Given the description of an element on the screen output the (x, y) to click on. 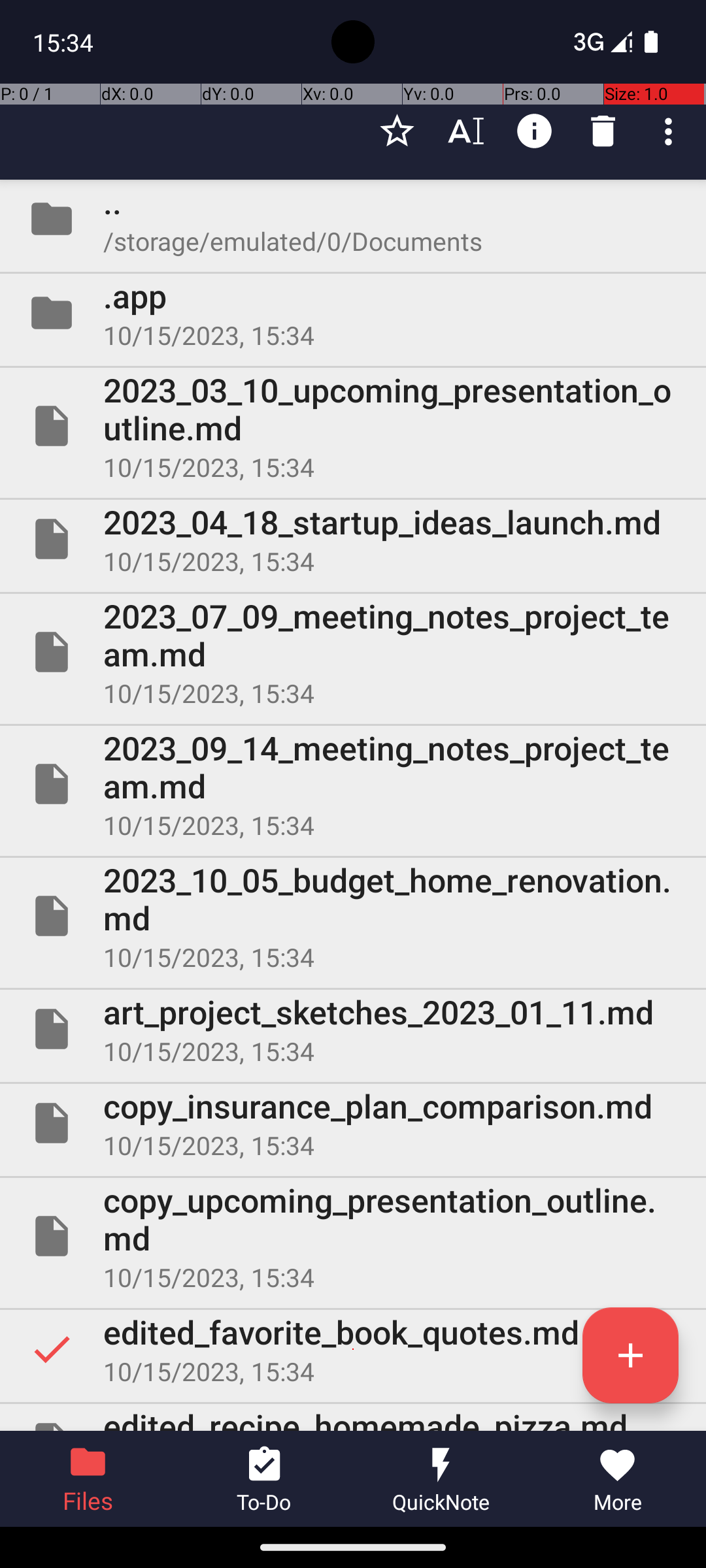
Favourite Element type: android.widget.TextView (396, 131)
Folder .app  Element type: android.widget.LinearLayout (353, 312)
File 2023_03_10_upcoming_presentation_outline.md  Element type: android.widget.LinearLayout (353, 425)
File 2023_04_18_startup_ideas_launch.md  Element type: android.widget.LinearLayout (353, 538)
File 2023_07_09_meeting_notes_project_team.md  Element type: android.widget.LinearLayout (353, 651)
File 2023_09_14_meeting_notes_project_team.md  Element type: android.widget.LinearLayout (353, 783)
File 2023_10_05_budget_home_renovation.md  Element type: android.widget.LinearLayout (353, 915)
File art_project_sketches_2023_01_11.md  Element type: android.widget.LinearLayout (353, 1028)
File copy_insurance_plan_comparison.md  Element type: android.widget.LinearLayout (353, 1122)
File copy_upcoming_presentation_outline.md  Element type: android.widget.LinearLayout (353, 1235)
Selected edited_favorite_book_quotes.md  Element type: android.widget.LinearLayout (353, 1348)
File edited_recipe_homemade_pizza.md  Element type: android.widget.LinearLayout (353, 1417)
